Given the description of an element on the screen output the (x, y) to click on. 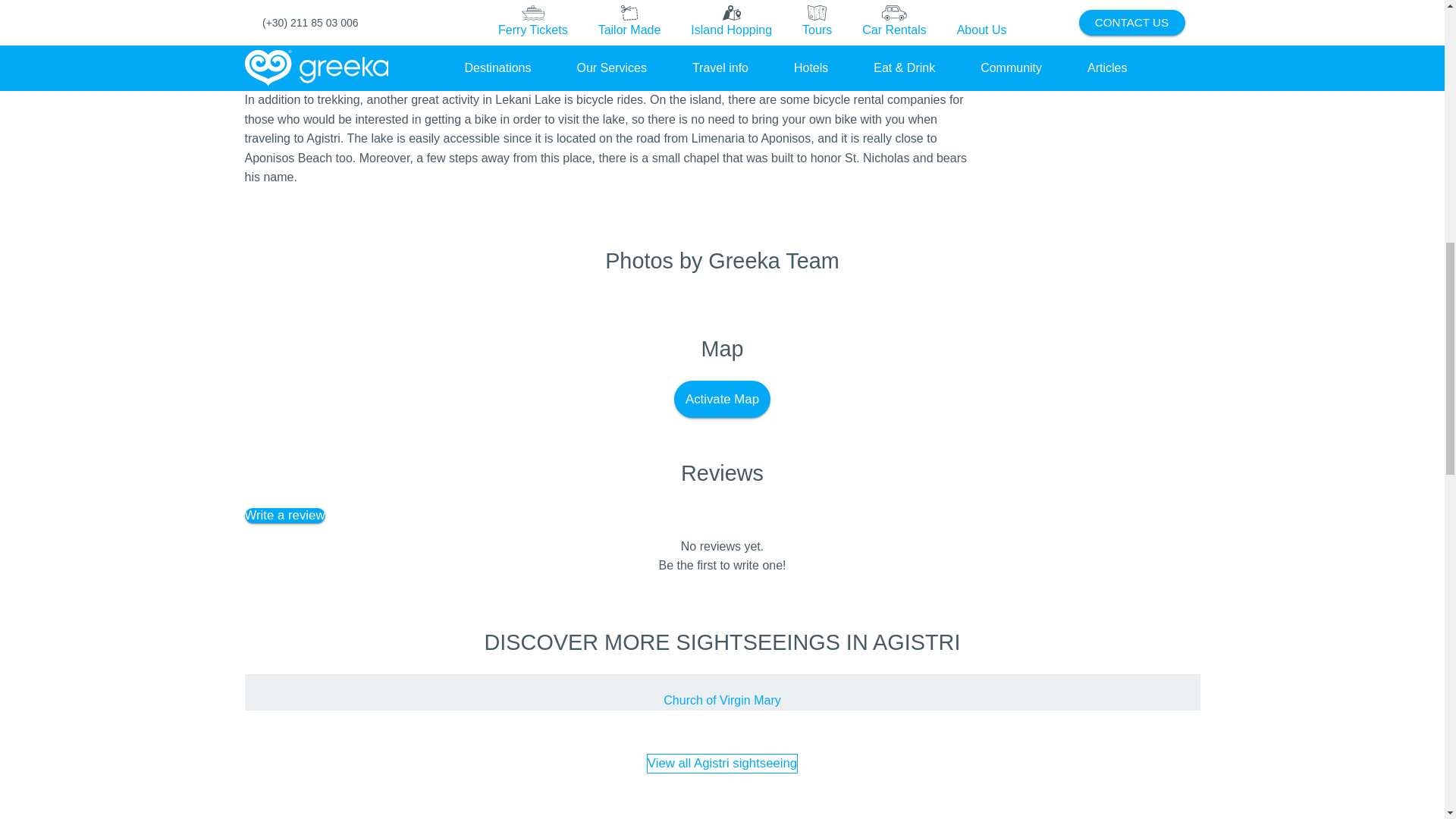
Church of Virgin Mary (721, 700)
